Given the description of an element on the screen output the (x, y) to click on. 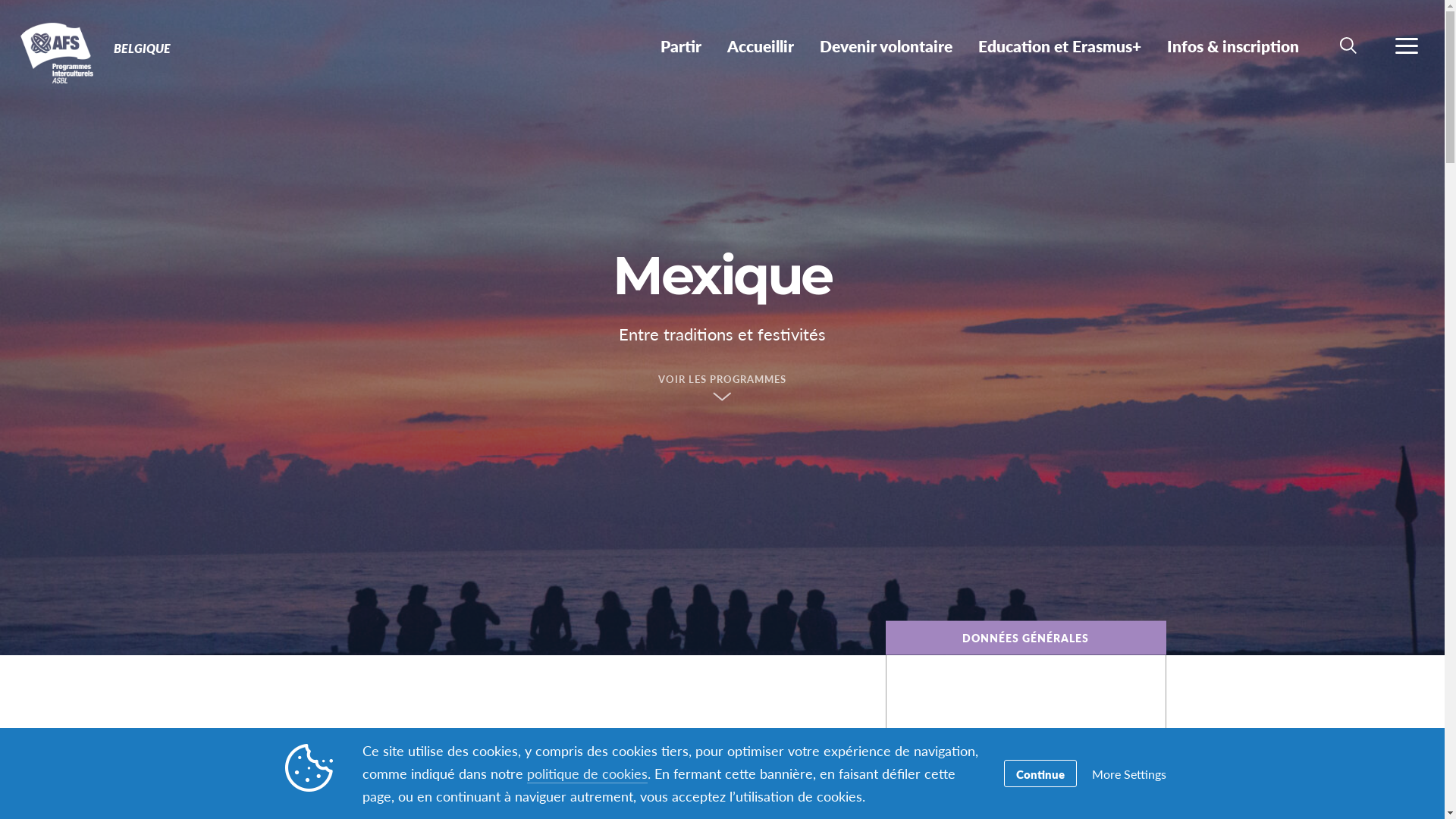
RECHERCHER Element type: text (1347, 45)
Partir Element type: text (680, 45)
politique de cookies Element type: text (586, 773)
BELGIQUE Element type: text (141, 47)
More Settings Element type: text (1129, 772)
MENU Element type: text (1406, 45)
Belgique Element type: text (65, 51)
Infos & inscription Element type: text (1232, 45)
Education et Erasmus+ Element type: text (1059, 45)
Accueillir Element type: text (760, 45)
Continue Element type: text (1040, 773)
Devenir volontaire Element type: text (885, 45)
VOIR LES PROGRAMMES Element type: text (722, 391)
